Given the description of an element on the screen output the (x, y) to click on. 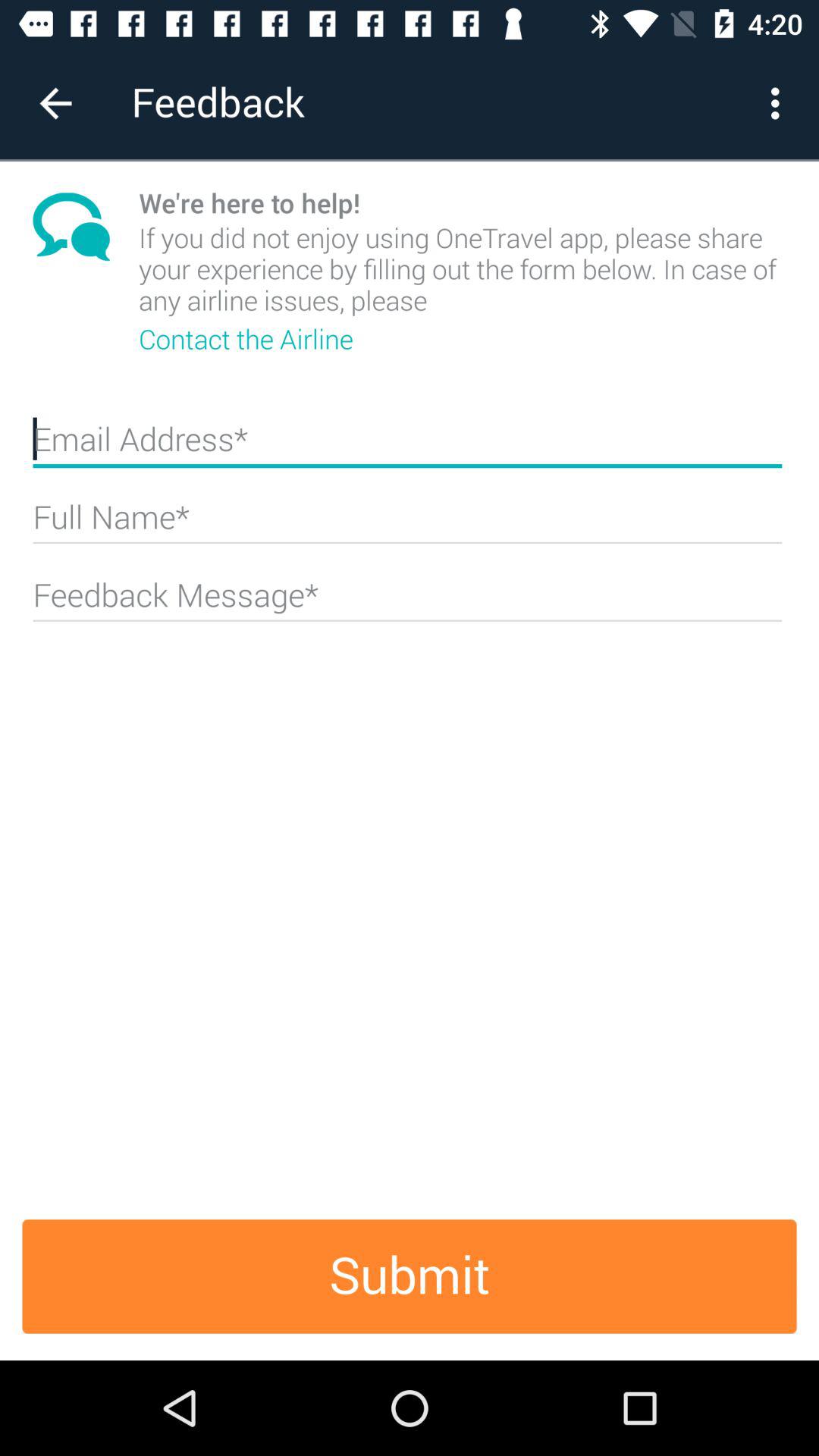
turn off icon to the left of feedback icon (55, 103)
